Given the description of an element on the screen output the (x, y) to click on. 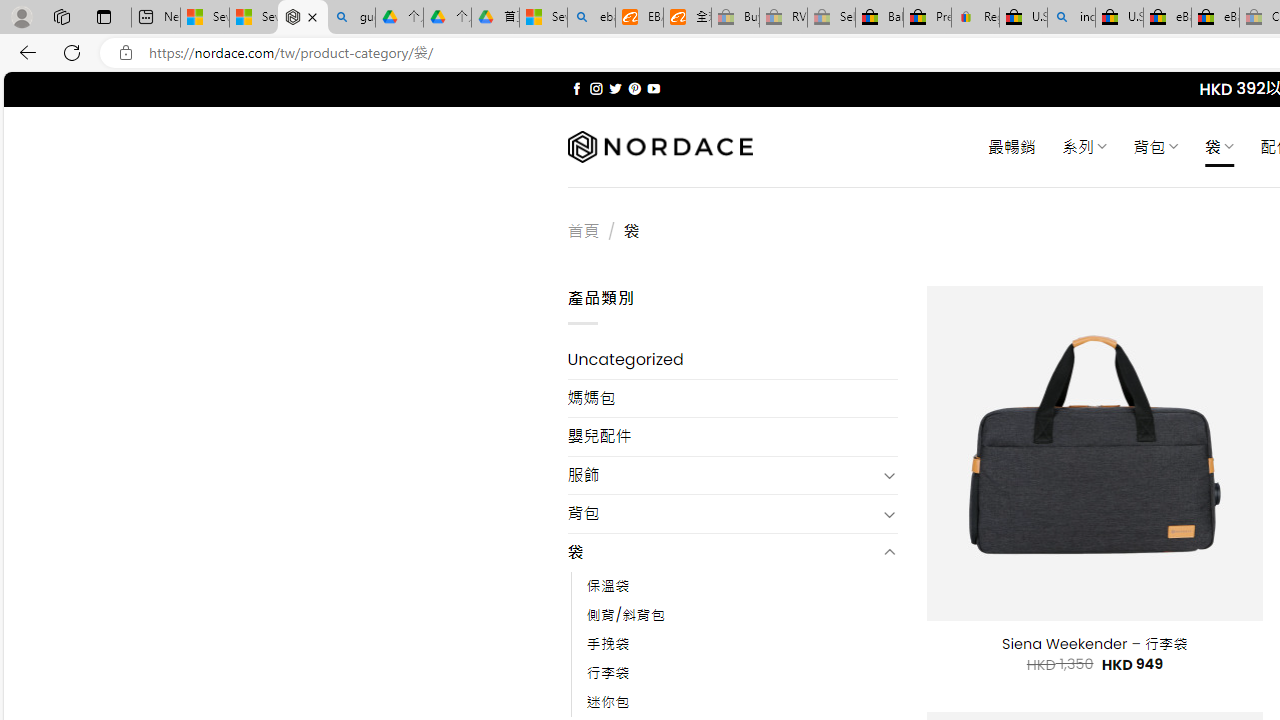
Nordace (659, 147)
Close tab (312, 16)
Uncategorized (732, 359)
Follow on Facebook (576, 88)
Uncategorized (732, 359)
